Given the description of an element on the screen output the (x, y) to click on. 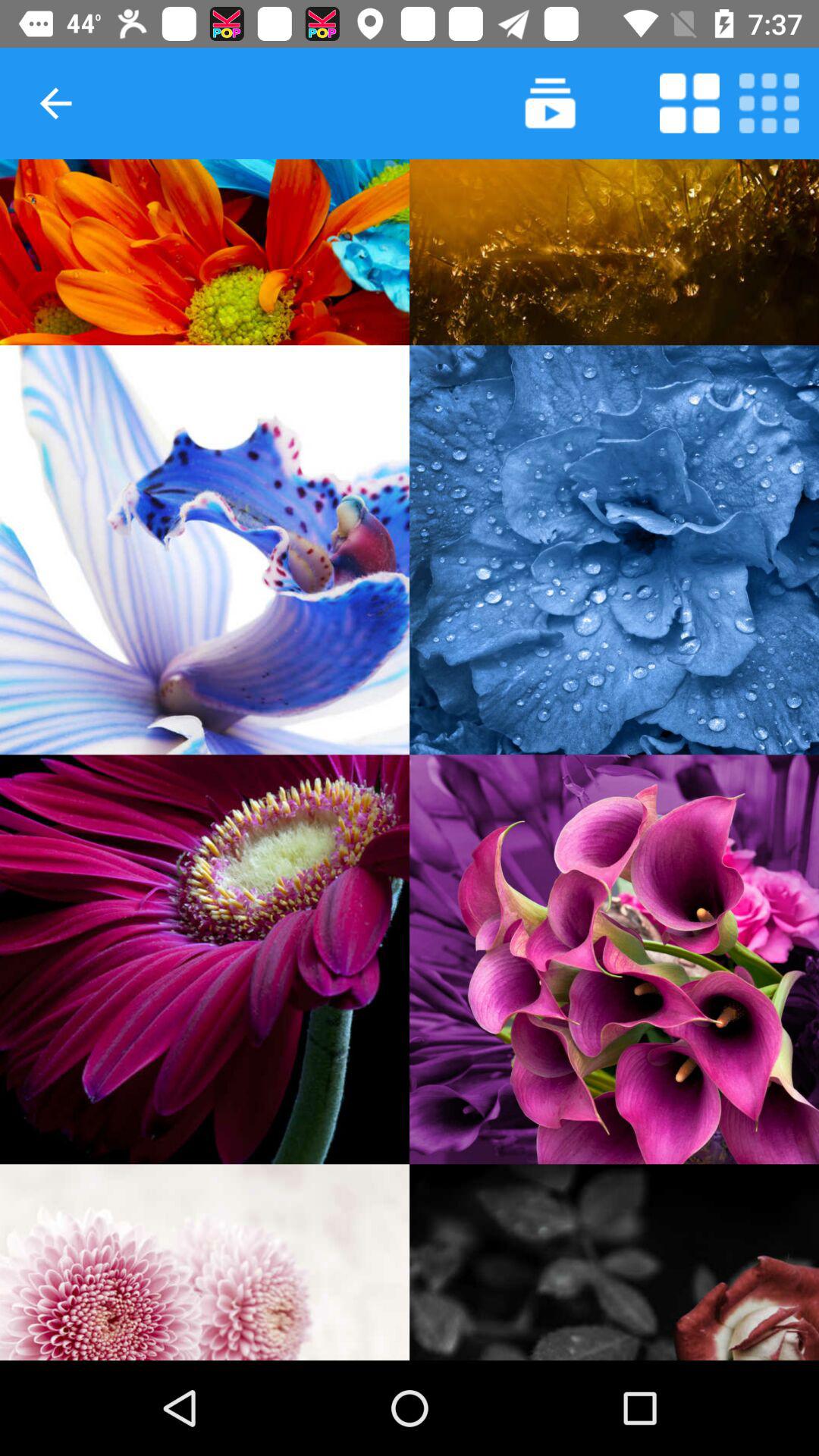
make the grid smaller (769, 103)
